Given the description of an element on the screen output the (x, y) to click on. 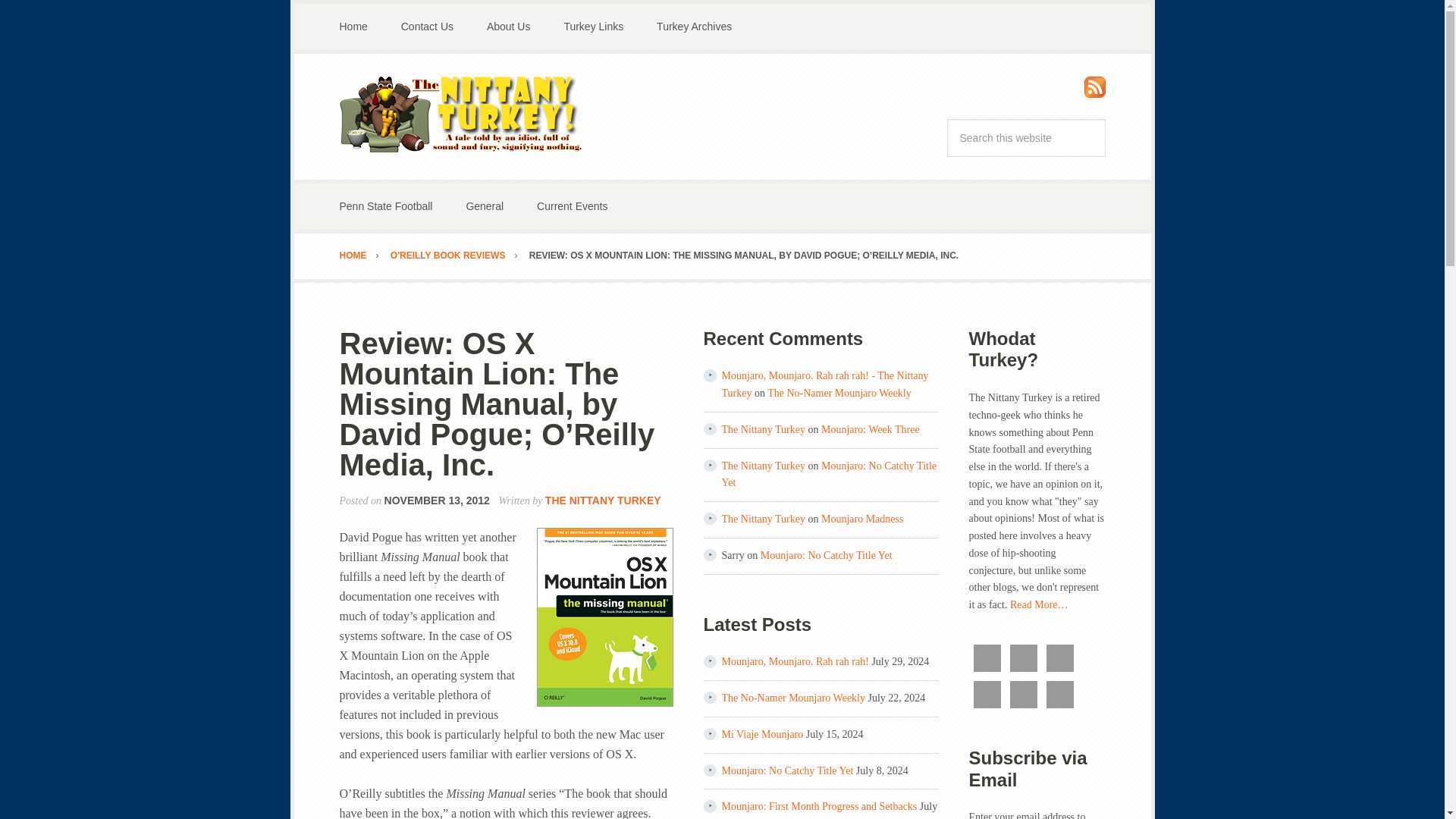
Mounjaro: No Catchy Title Yet (826, 555)
The Nittany Turkey (460, 114)
The No-Namer Mounjaro Weekly (839, 392)
THE NITTANY TURKEY (602, 500)
General (483, 206)
Current Events (572, 206)
The Nittany Turkey (763, 518)
Turkey Archives (694, 26)
